Given the description of an element on the screen output the (x, y) to click on. 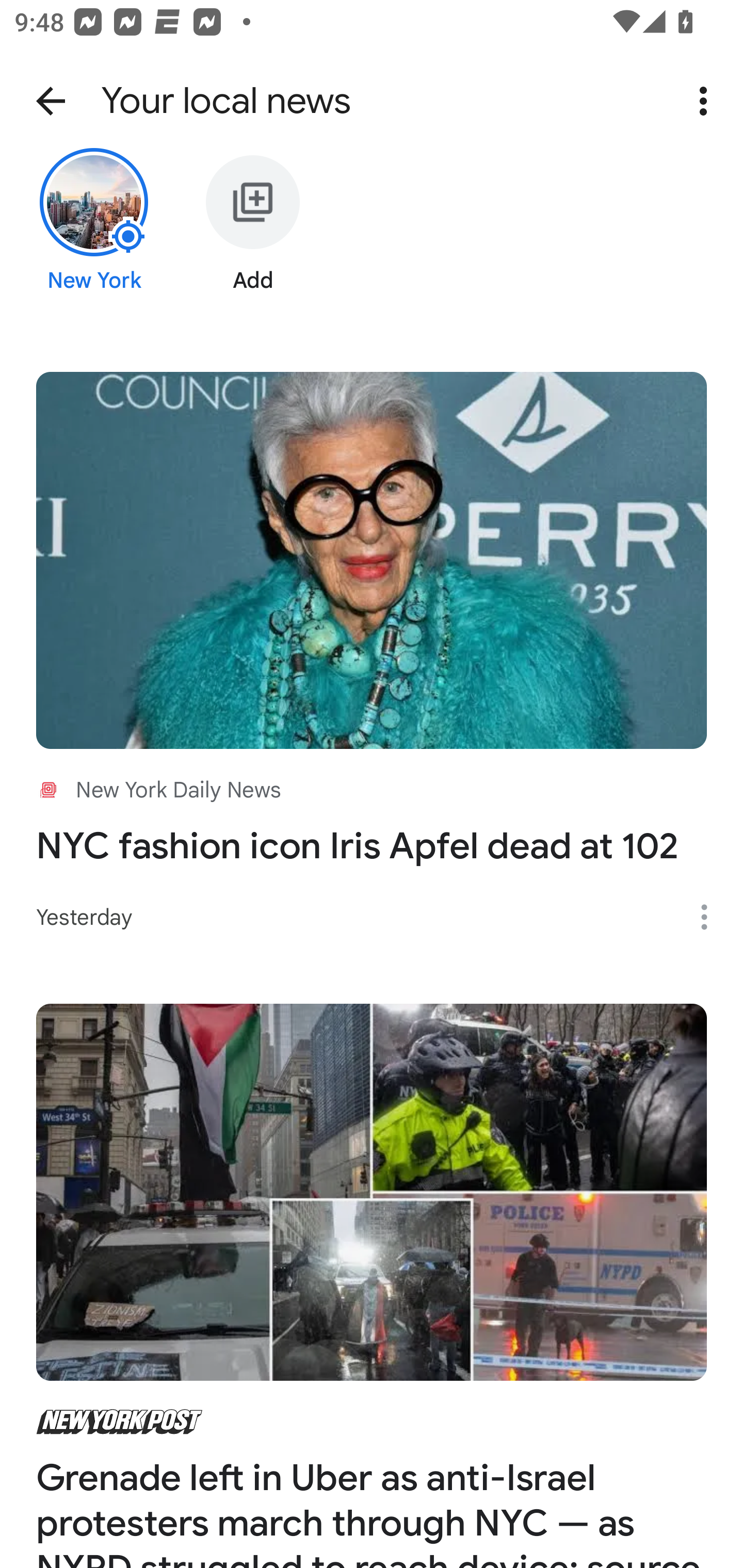
Navigate up (50, 101)
More options (706, 101)
Add (252, 235)
More options (711, 917)
